Given the description of an element on the screen output the (x, y) to click on. 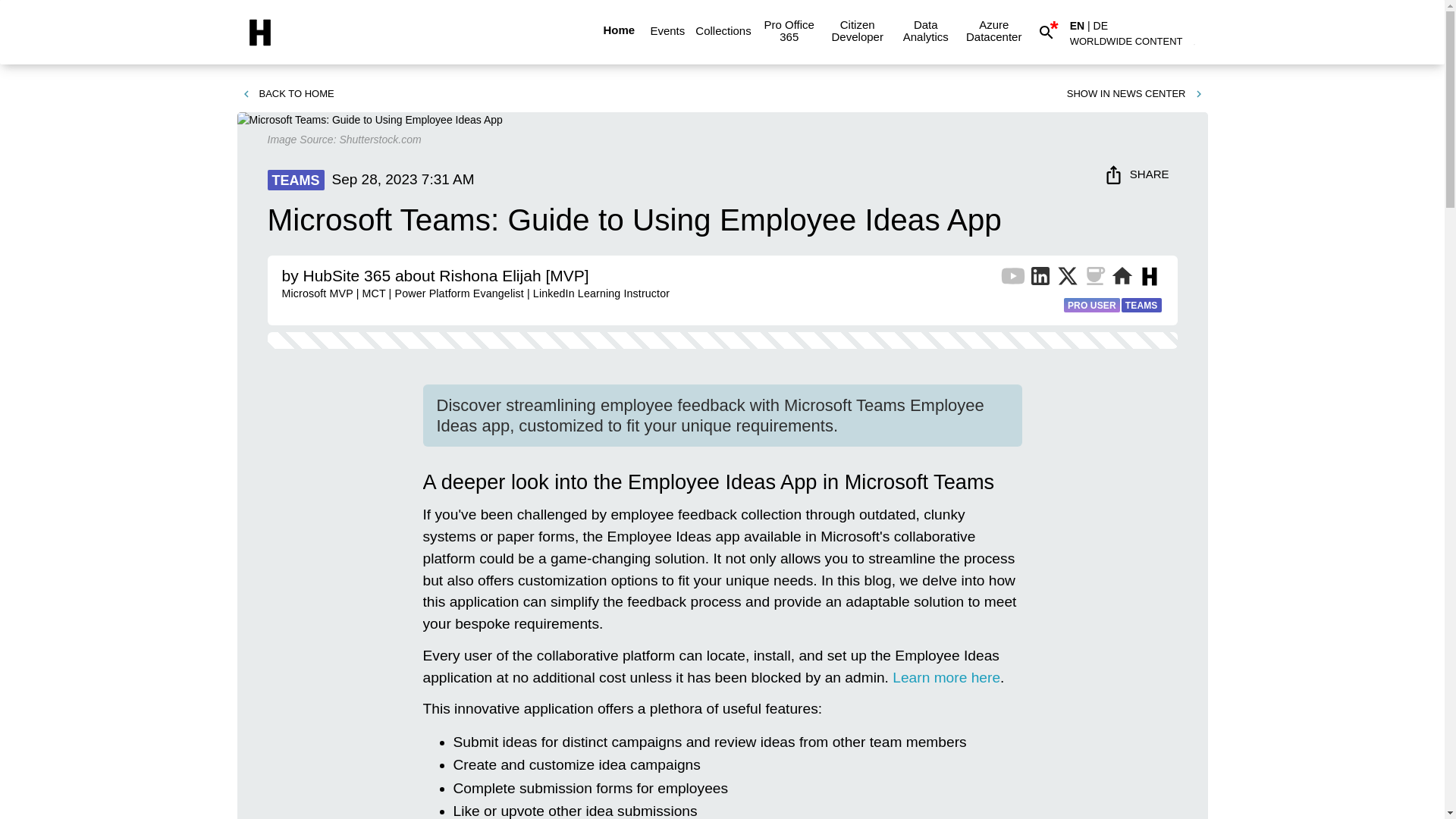
Pro Office 365 (789, 31)
Microsoft Teams: Guide to Using Employee Ideas App (368, 119)
Azure Datacenter (993, 31)
Learn more here (946, 677)
Data Analytics (925, 31)
Citizen Developer (857, 31)
Collections (722, 31)
BACK TO HOME (286, 94)
Events (667, 31)
SHOW IN NEWS CENTER (1135, 94)
